Given the description of an element on the screen output the (x, y) to click on. 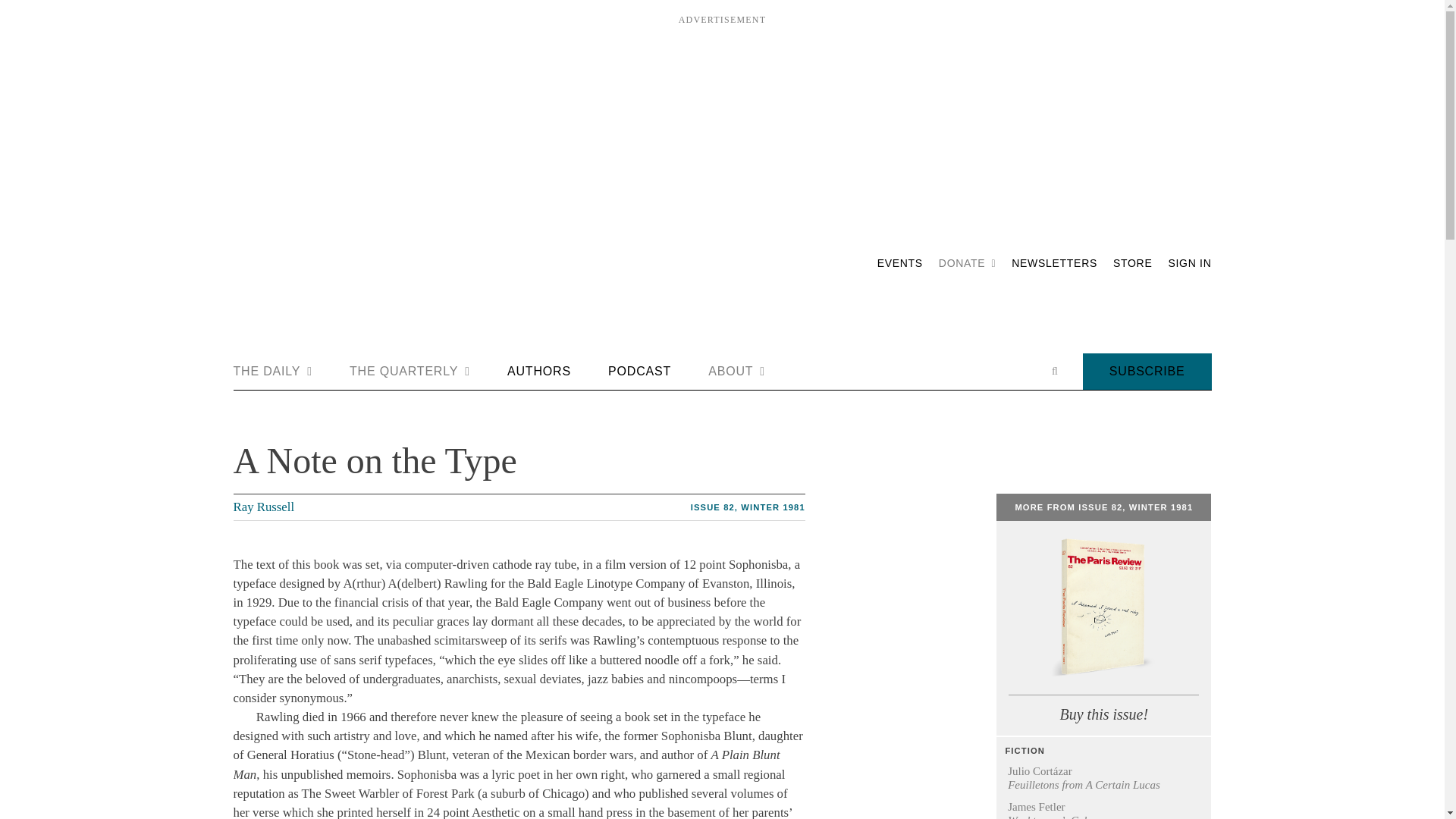
THE QUARTERLY (409, 371)
Open search (1054, 371)
THE DAILY (272, 371)
